Given the description of an element on the screen output the (x, y) to click on. 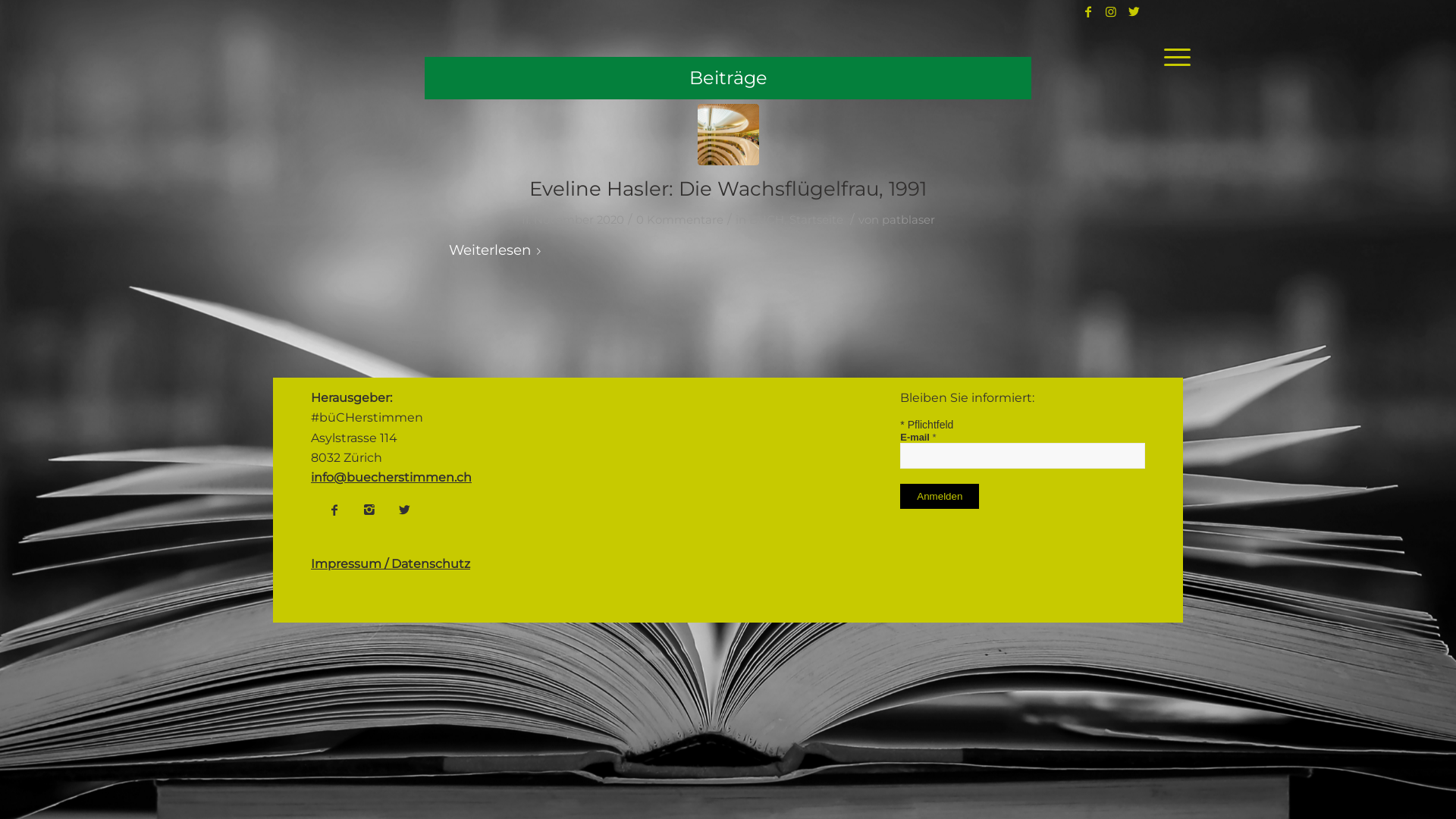
Facebook Element type: hover (1087, 11)
patblaser Element type: text (908, 219)
info@buecherstimmen.ch Element type: text (390, 477)
Anmelden Element type: text (939, 495)
BUCH Element type: text (766, 219)
0 Kommentare Element type: text (679, 219)
Weiterlesen Element type: text (497, 250)
Impressum / Datenschutz Element type: text (390, 563)
Instagram Element type: hover (368, 509)
Twitter Element type: hover (403, 509)
Startseite Element type: text (816, 219)
Bibliothek Rechtswissenschaftliches Institut Element type: hover (728, 134)
Twitter Element type: hover (1133, 11)
Facebook Element type: hover (334, 509)
Instagram Element type: hover (1110, 11)
